Given the description of an element on the screen output the (x, y) to click on. 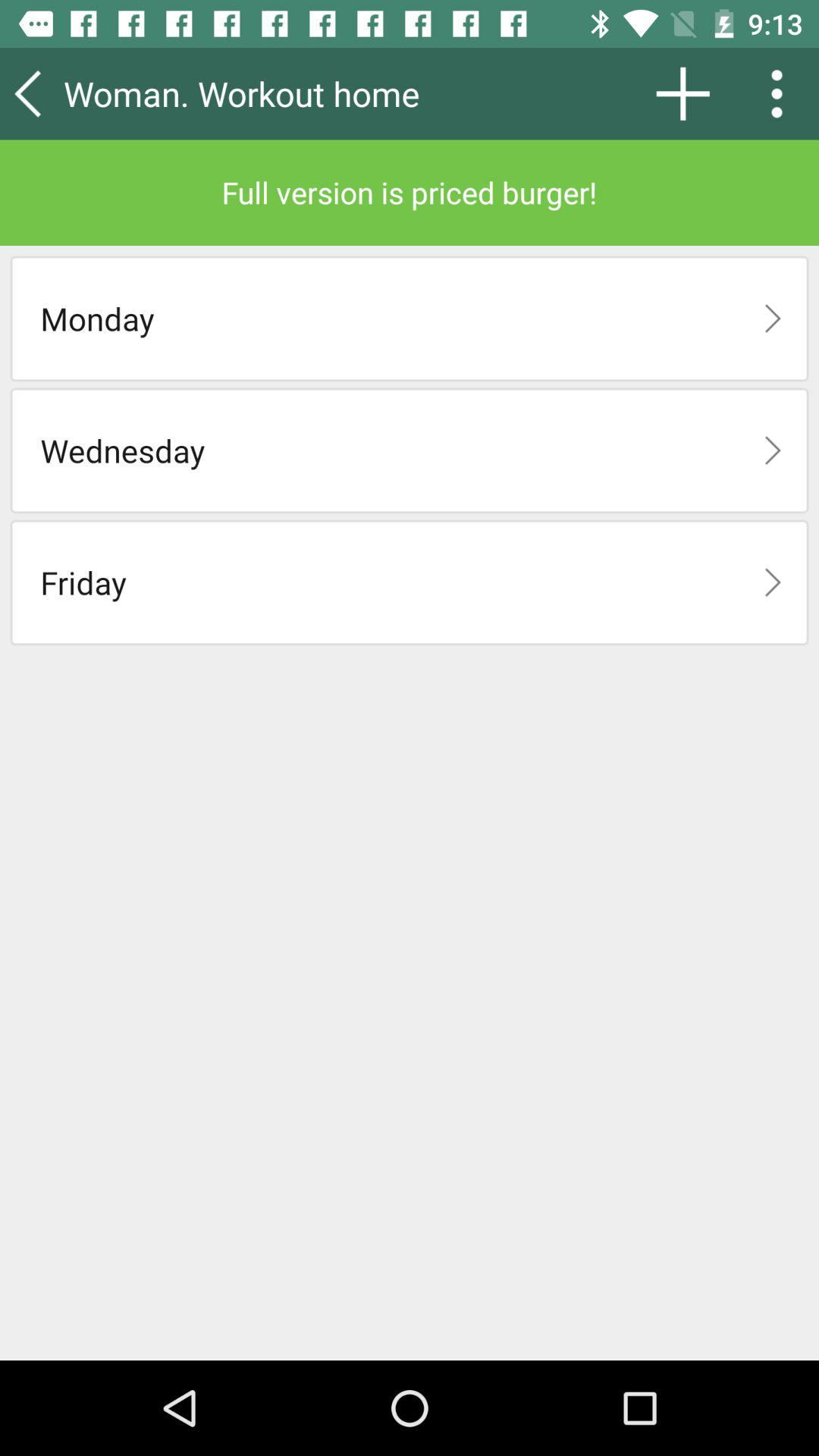
turn off the icon above full version is item (682, 93)
